Given the description of an element on the screen output the (x, y) to click on. 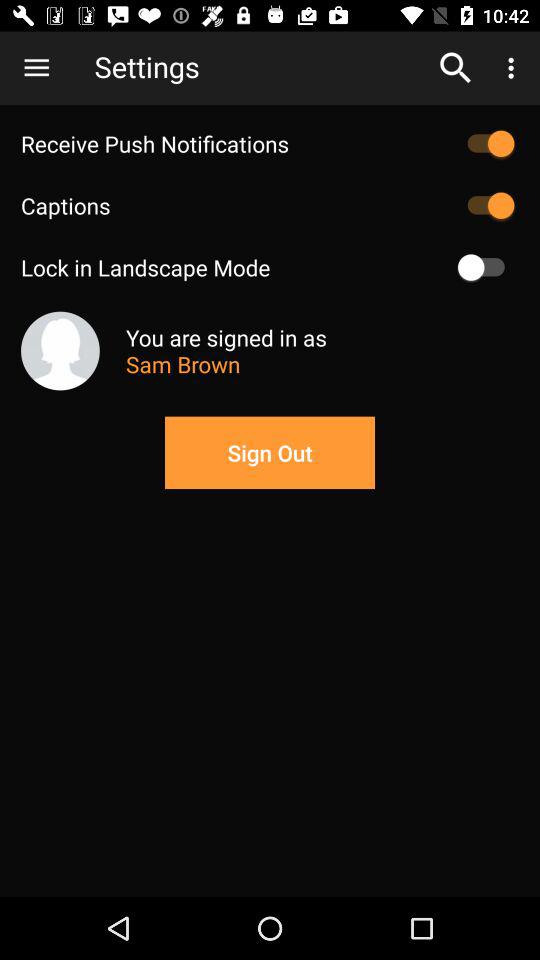
toggle push notifications option (486, 143)
